Given the description of an element on the screen output the (x, y) to click on. 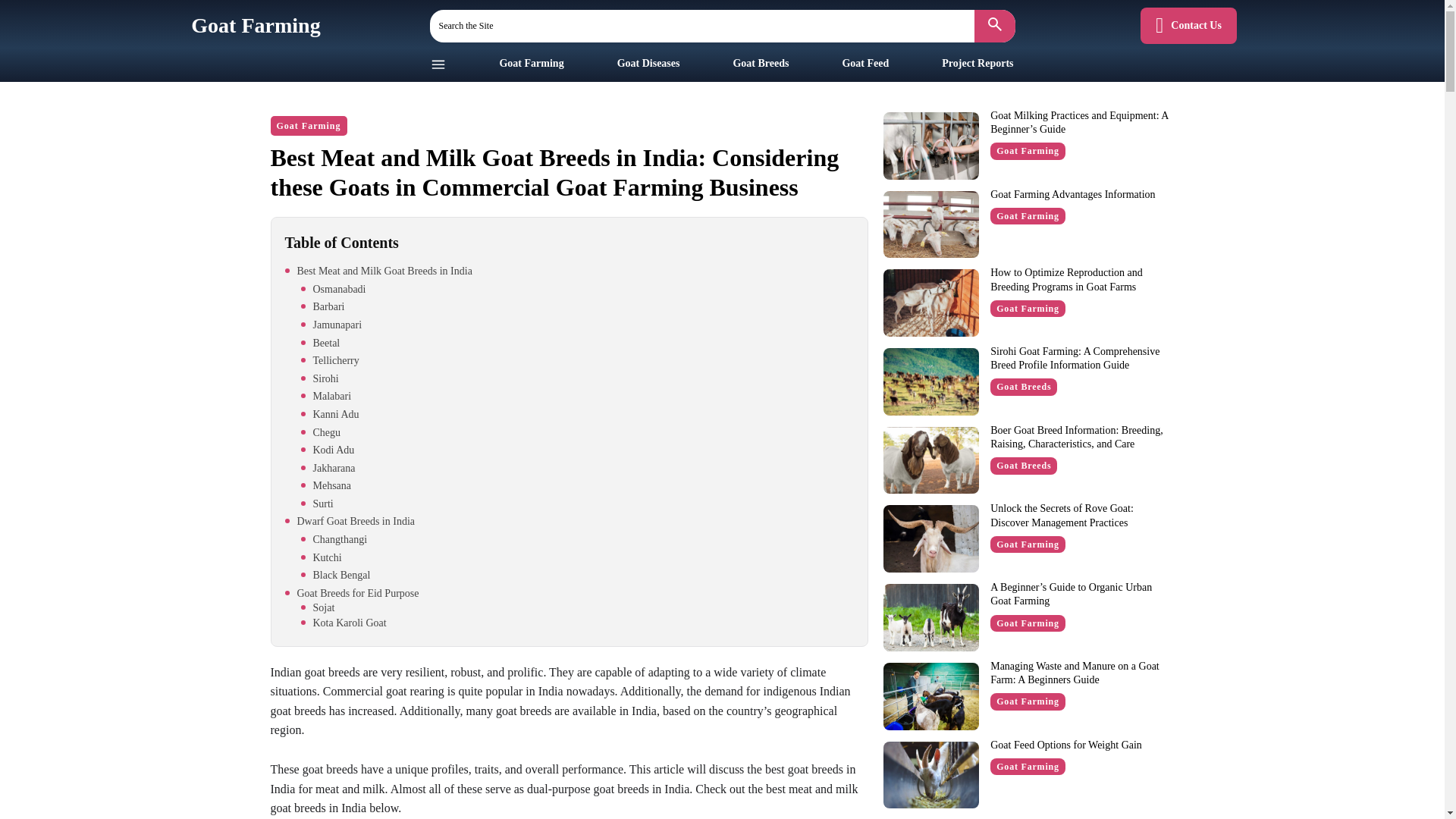
Tellicherry  (576, 360)
Beetal  (576, 343)
Goat Feed (864, 62)
Barbari  (576, 306)
Kanni Adu (576, 414)
Malabari (576, 396)
Goat Farming (307, 125)
Best Meat and Milk Goat Breeds in India (569, 271)
Project Reports (977, 62)
Contact Us (1188, 25)
Goat Breeds (760, 62)
Contact Us (1188, 25)
Goat Diseases (648, 62)
Goat Farming (531, 62)
Osmanabadi (576, 289)
